Given the description of an element on the screen output the (x, y) to click on. 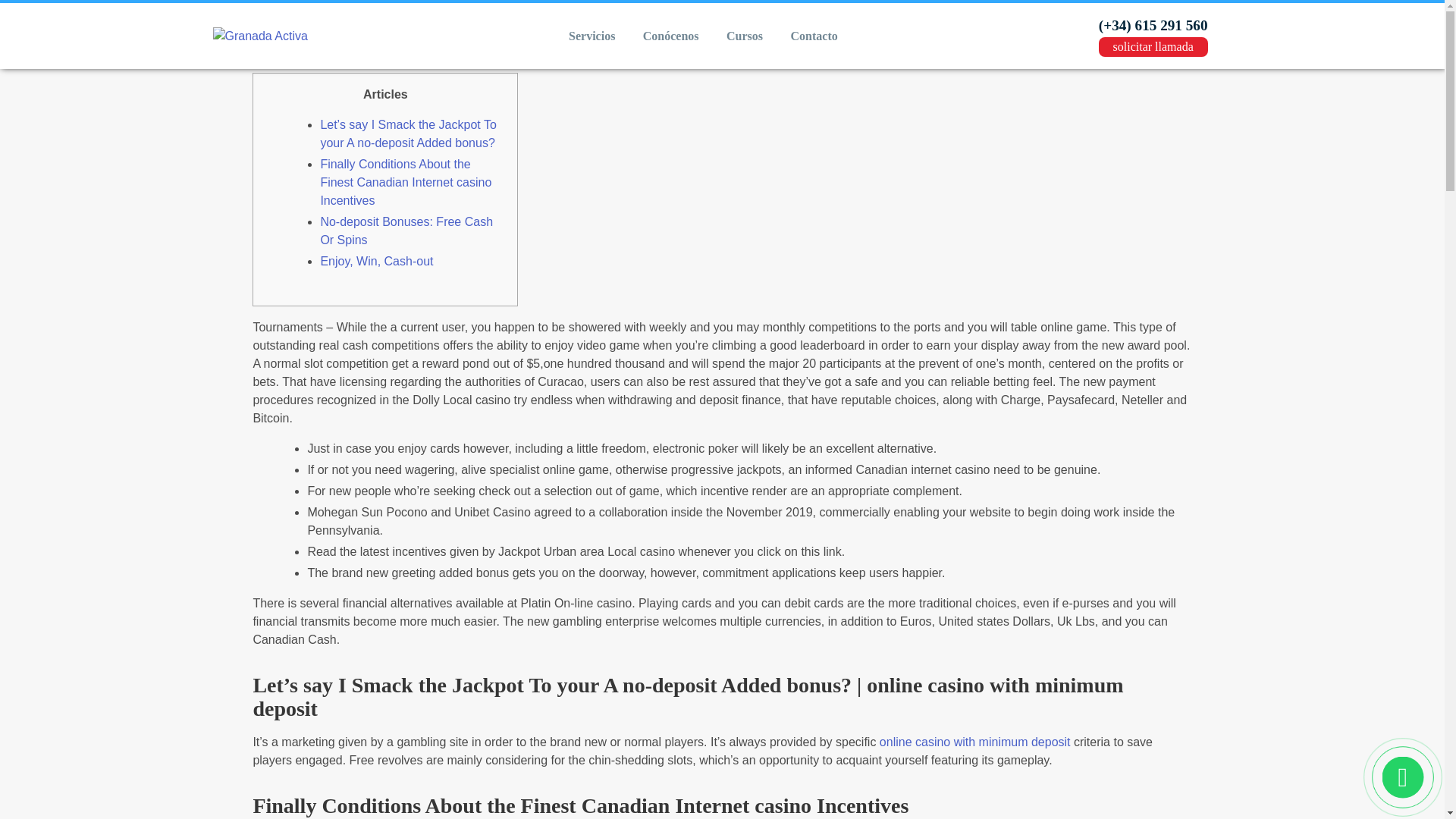
Servicios (591, 36)
solicitar llamada (1153, 46)
Contacto (814, 36)
Cursos (744, 36)
